Given the description of an element on the screen output the (x, y) to click on. 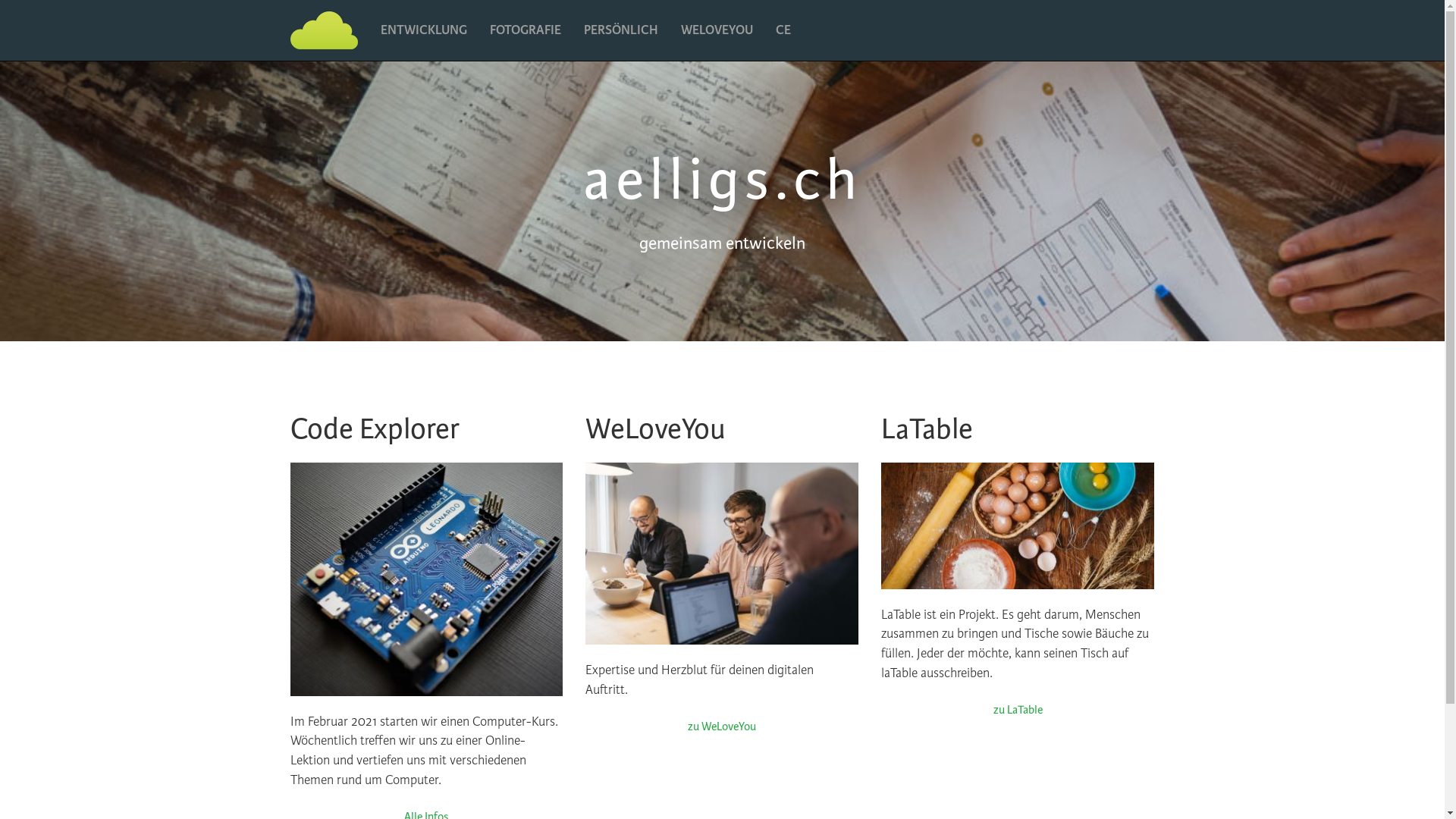
WELOVEYOU Element type: text (715, 30)
ENTWICKLUNG Element type: text (422, 30)
FOTOGRAFIE Element type: text (524, 30)
zu WeLoveYou Element type: text (721, 727)
aelligs Element type: hover (323, 30)
CE Element type: text (783, 30)
zu LaTable Element type: text (1017, 710)
